Given the description of an element on the screen output the (x, y) to click on. 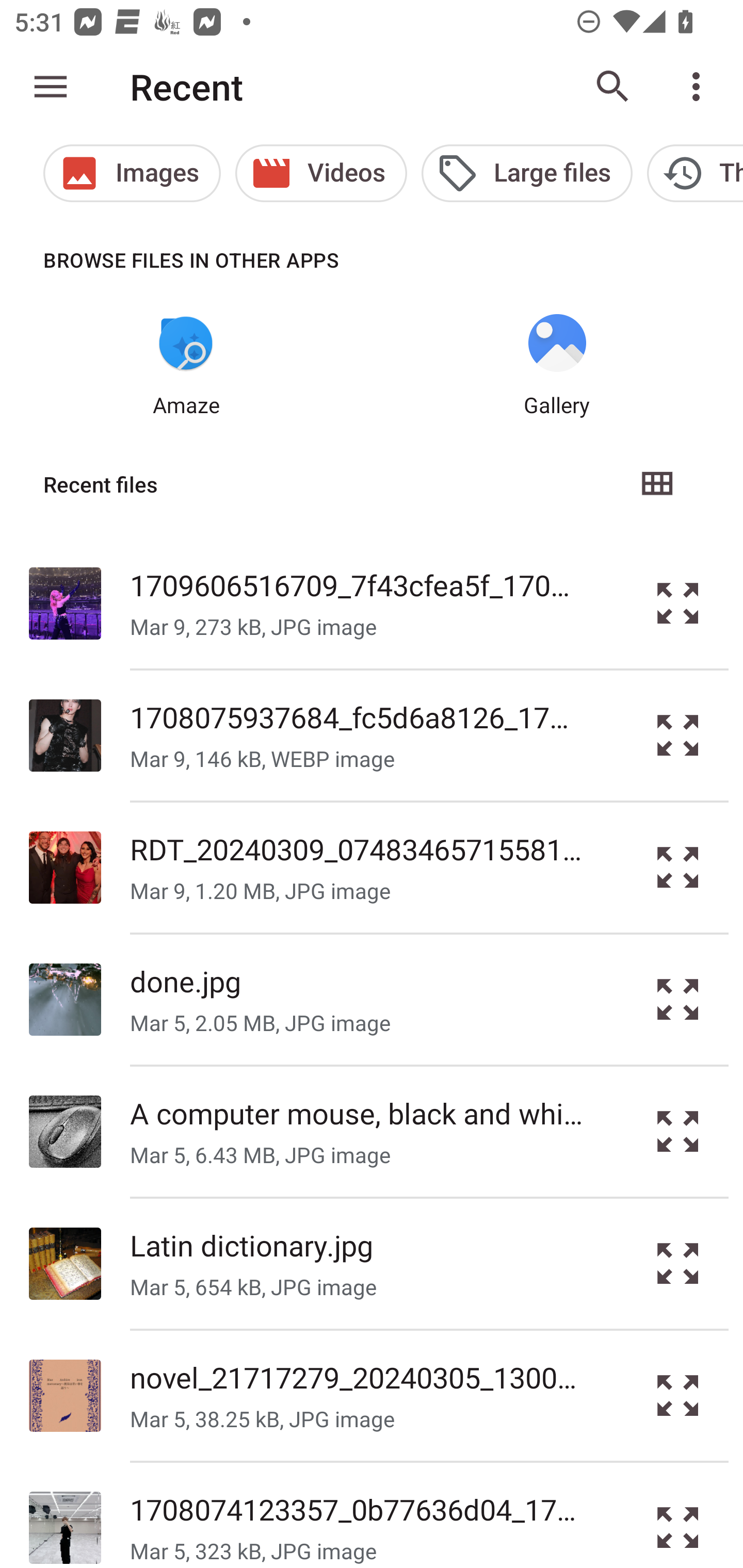
Show roots (50, 86)
Search (612, 86)
More options (699, 86)
Images (131, 173)
Videos (321, 173)
Large files (526, 173)
Amaze (185, 365)
Gallery (557, 365)
Grid view (655, 484)
Preview the file done.jpg (677, 999)
Preview the file Latin dictionary.jpg (677, 1262)
